Given the description of an element on the screen output the (x, y) to click on. 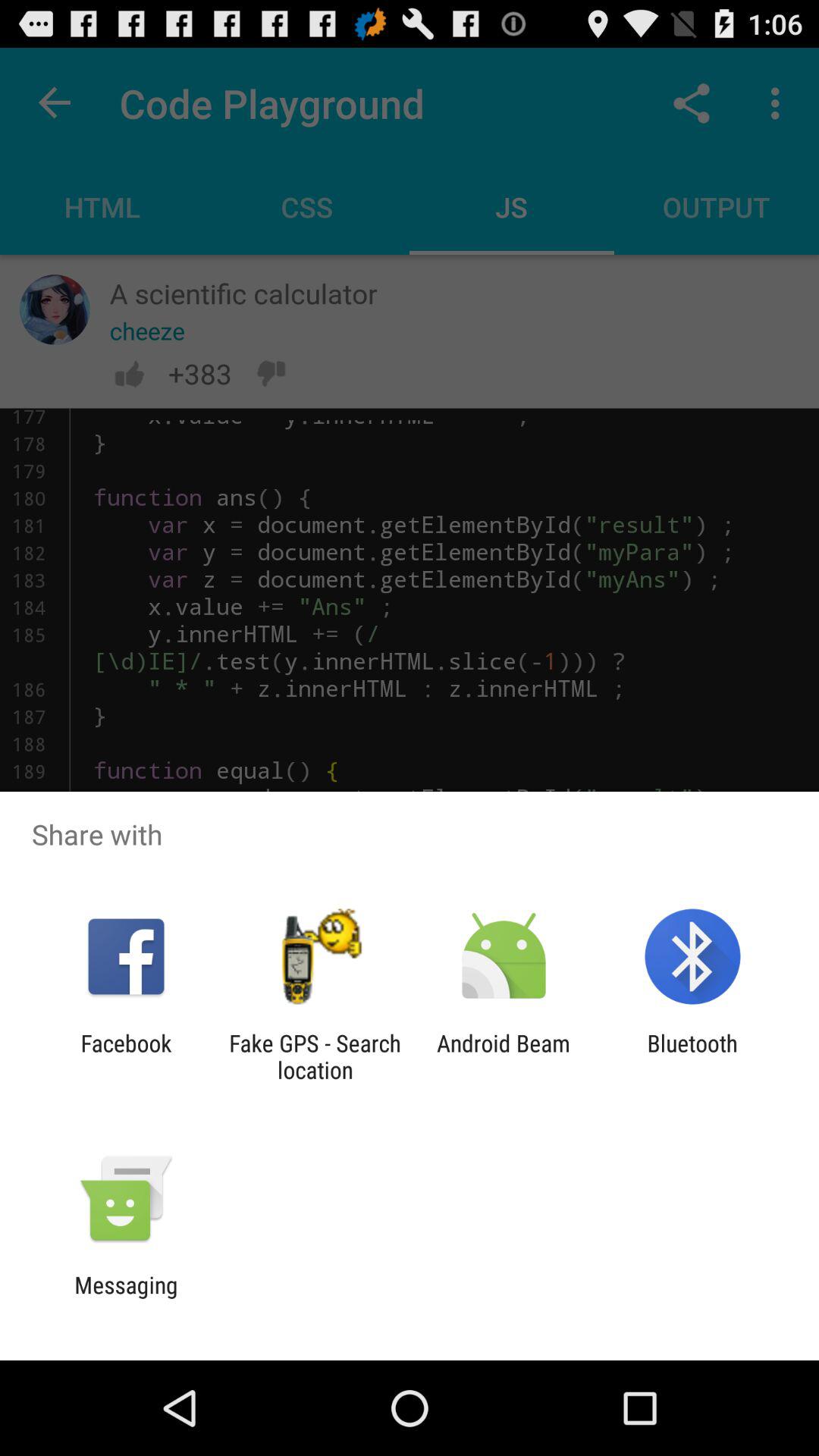
open the item to the right of the fake gps search item (503, 1056)
